Given the description of an element on the screen output the (x, y) to click on. 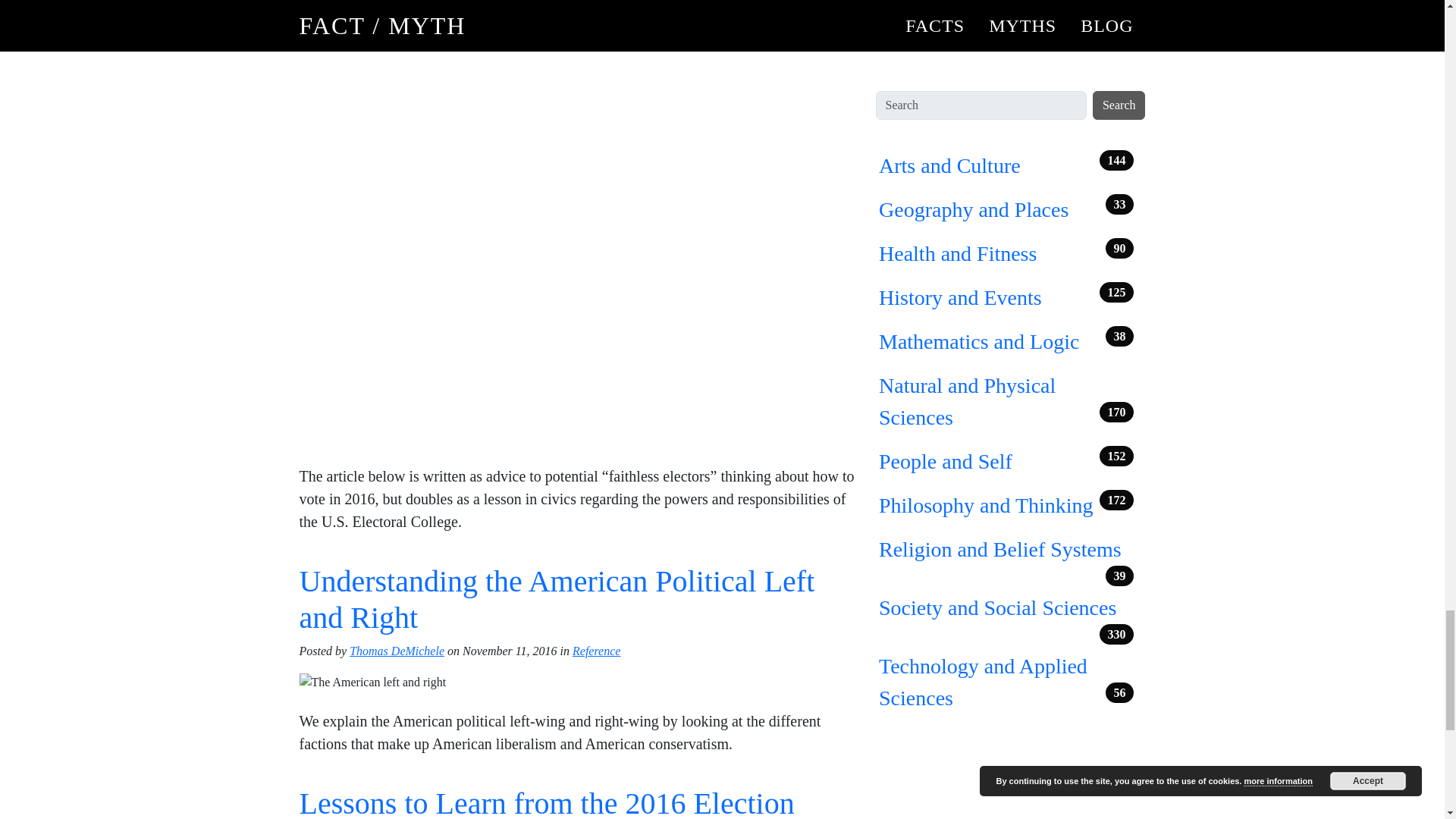
Posts by Thomas DeMichele (396, 650)
Lessons to Learn from the 2016 Election (545, 802)
Understanding the American Political Left and Right (555, 599)
Thomas DeMichele (396, 650)
Reference (596, 650)
